Given the description of an element on the screen output the (x, y) to click on. 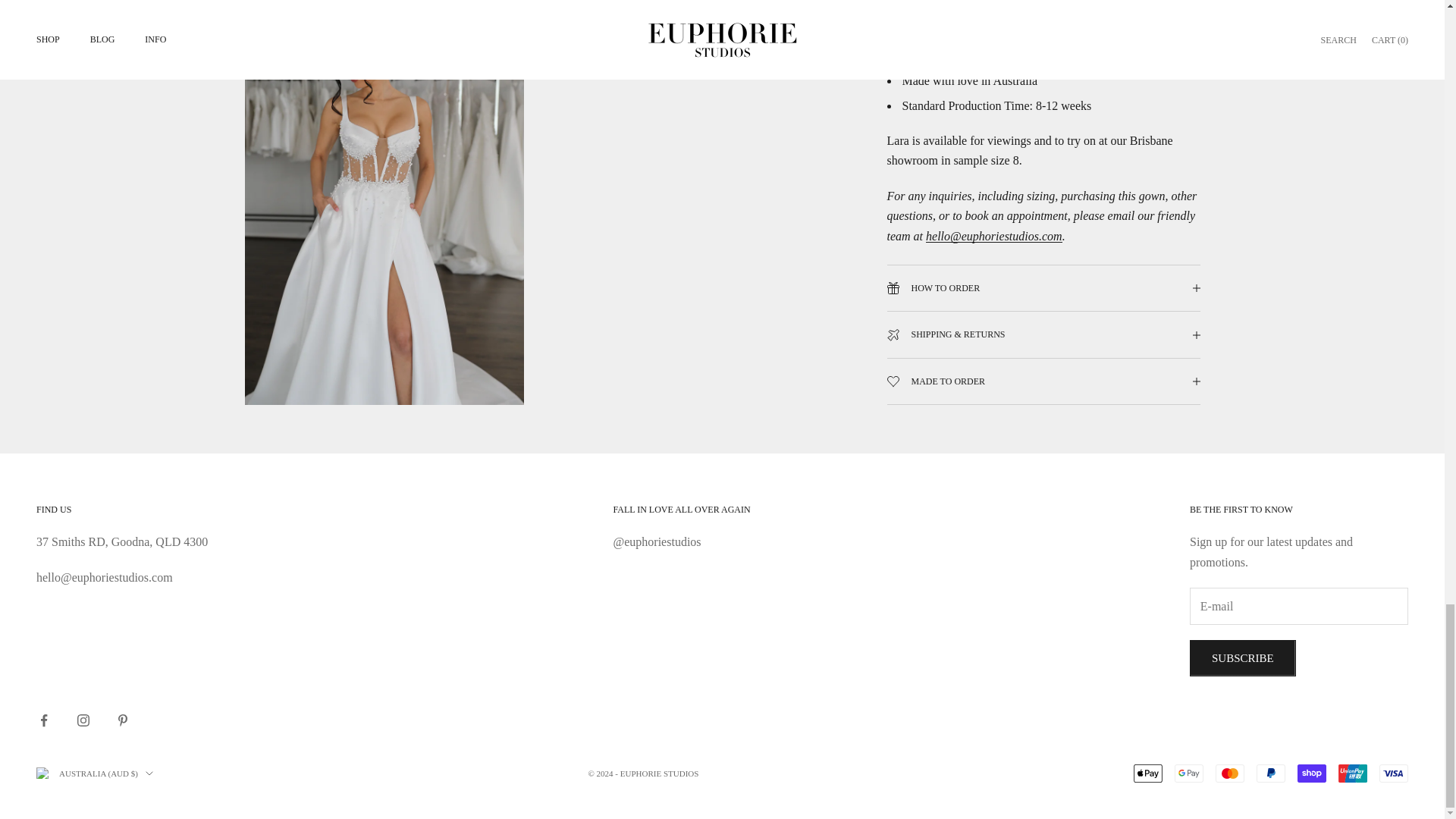
SUBSCRIBE (1242, 657)
